Given the description of an element on the screen output the (x, y) to click on. 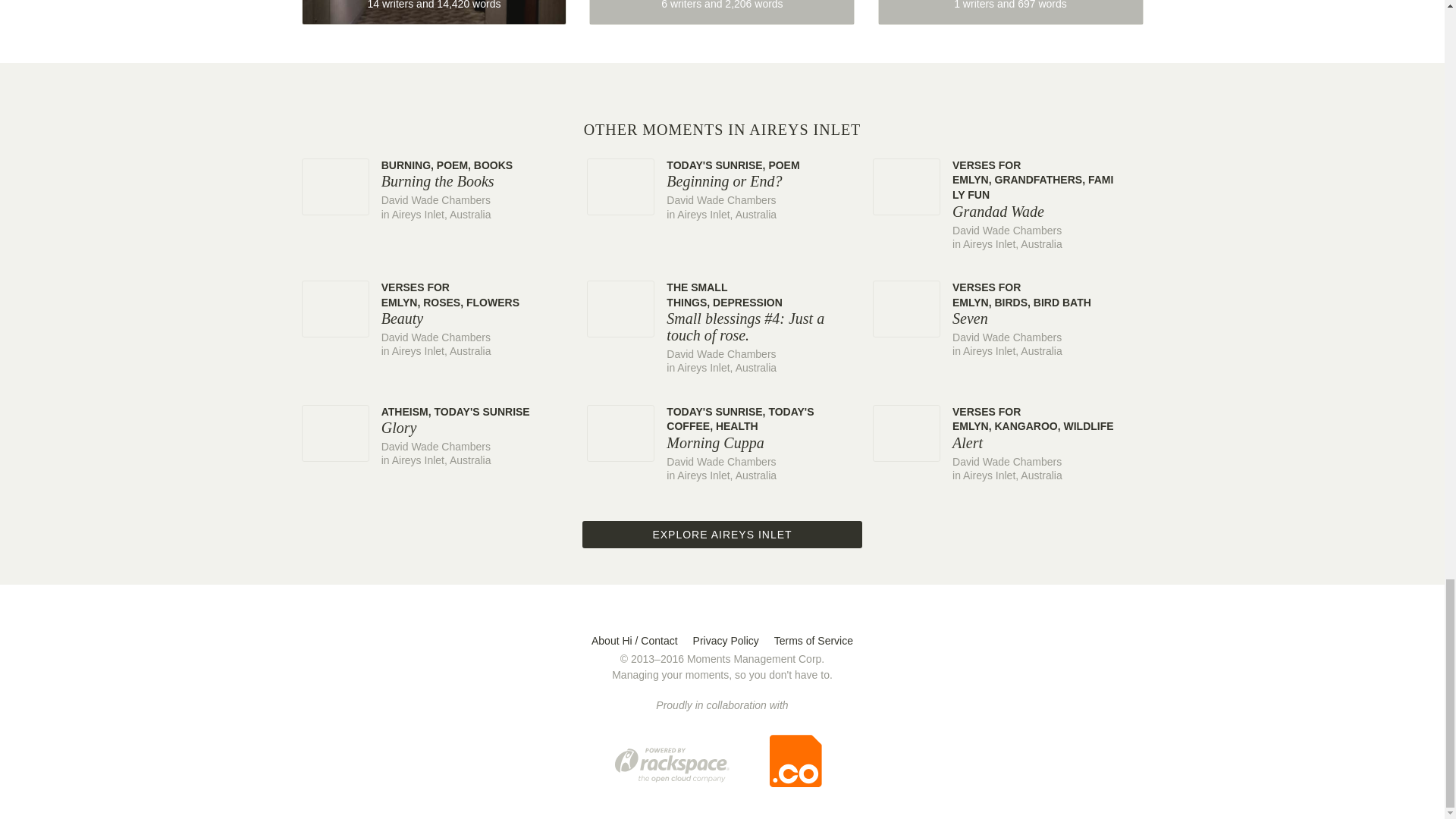
OTHER MOMENTS IN AIREYS INLET (721, 129)
